Given the description of an element on the screen output the (x, y) to click on. 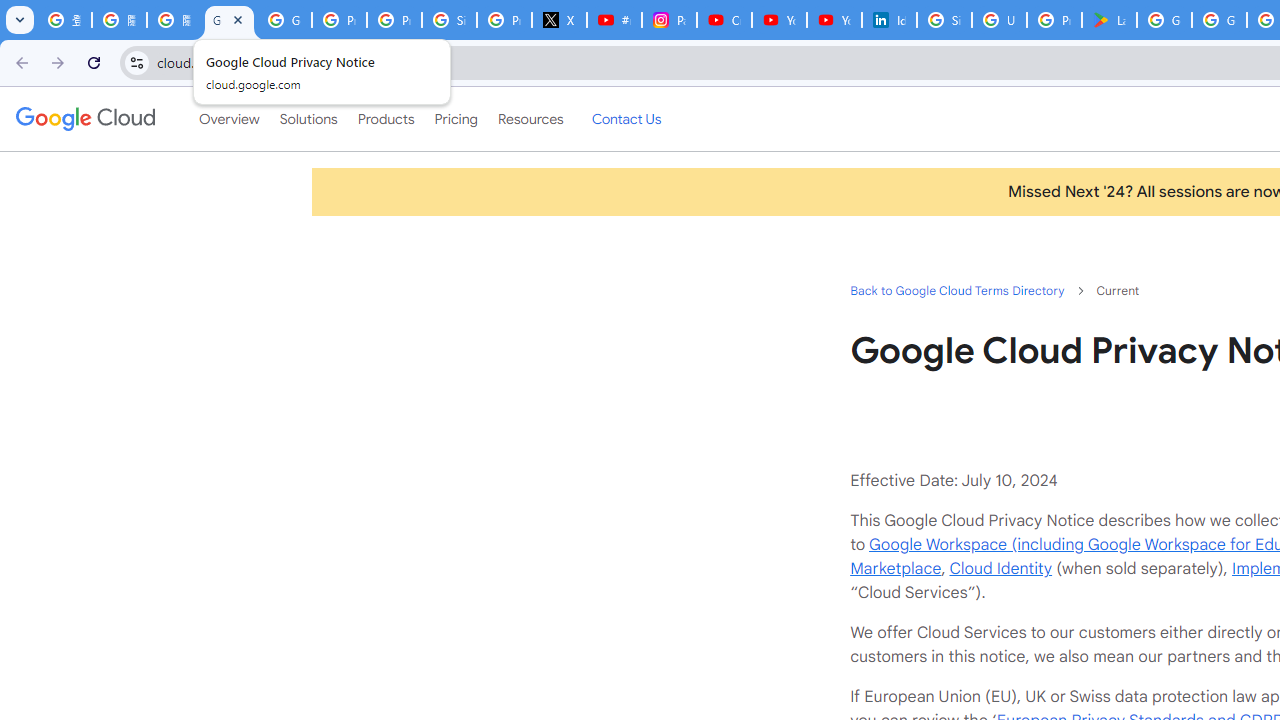
#nbabasketballhighlights - YouTube (614, 20)
Sign in - Google Accounts (943, 20)
Resources (530, 119)
Sign in - Google Accounts (449, 20)
Google Cloud (84, 118)
